Given the description of an element on the screen output the (x, y) to click on. 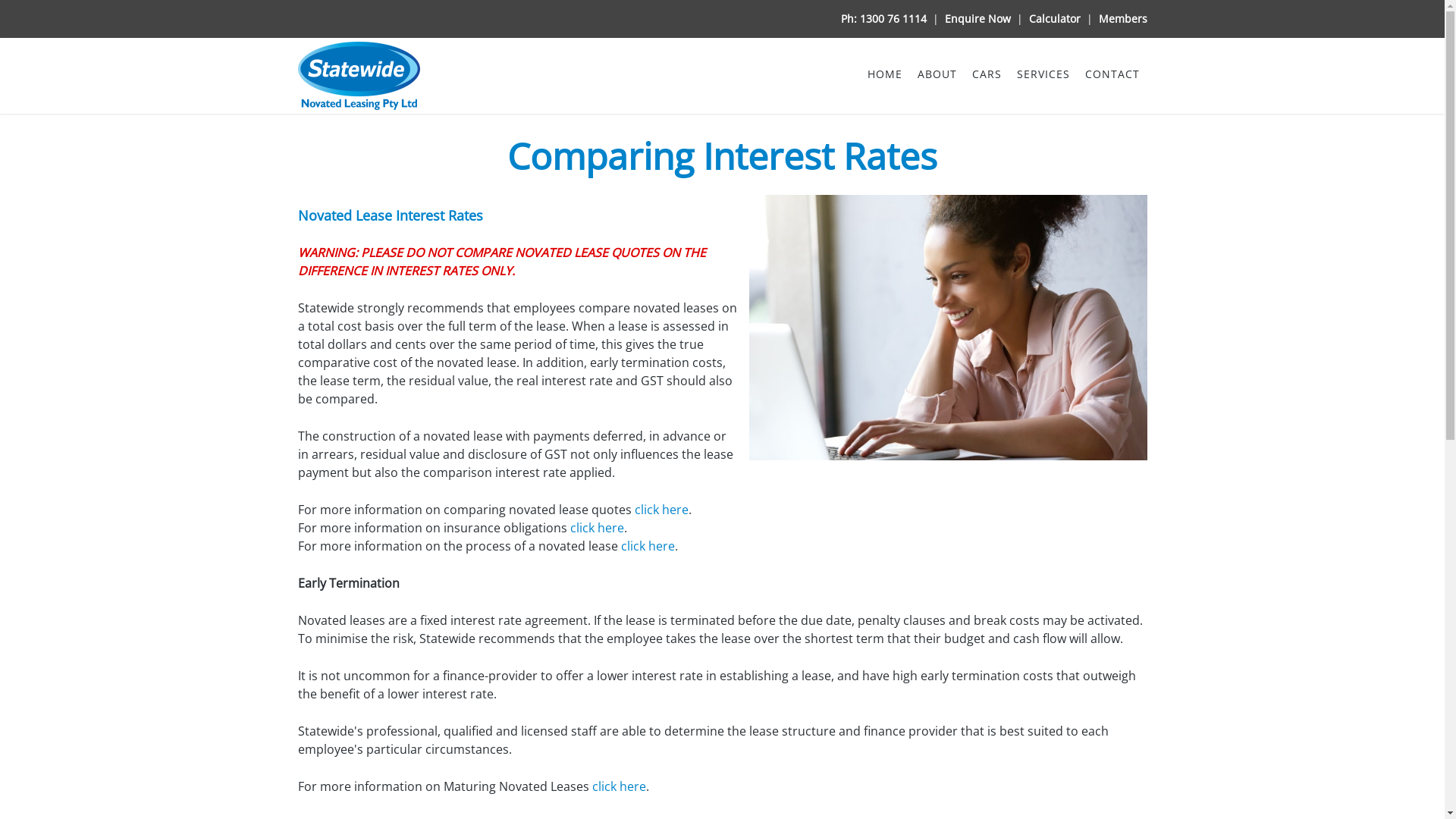
ABOUT Element type: text (937, 74)
click here Element type: text (660, 509)
HOME Element type: text (884, 74)
Members Element type: text (1122, 18)
Calculator Element type: text (1053, 18)
Enquire Now Element type: text (977, 18)
CARS Element type: text (986, 74)
Ph: 1300 76 1114 Element type: text (882, 18)
click here Element type: text (597, 527)
click here Element type: text (647, 545)
SERVICES Element type: text (1042, 74)
CONTACT Element type: text (1111, 74)
click here Element type: text (618, 786)
